Given the description of an element on the screen output the (x, y) to click on. 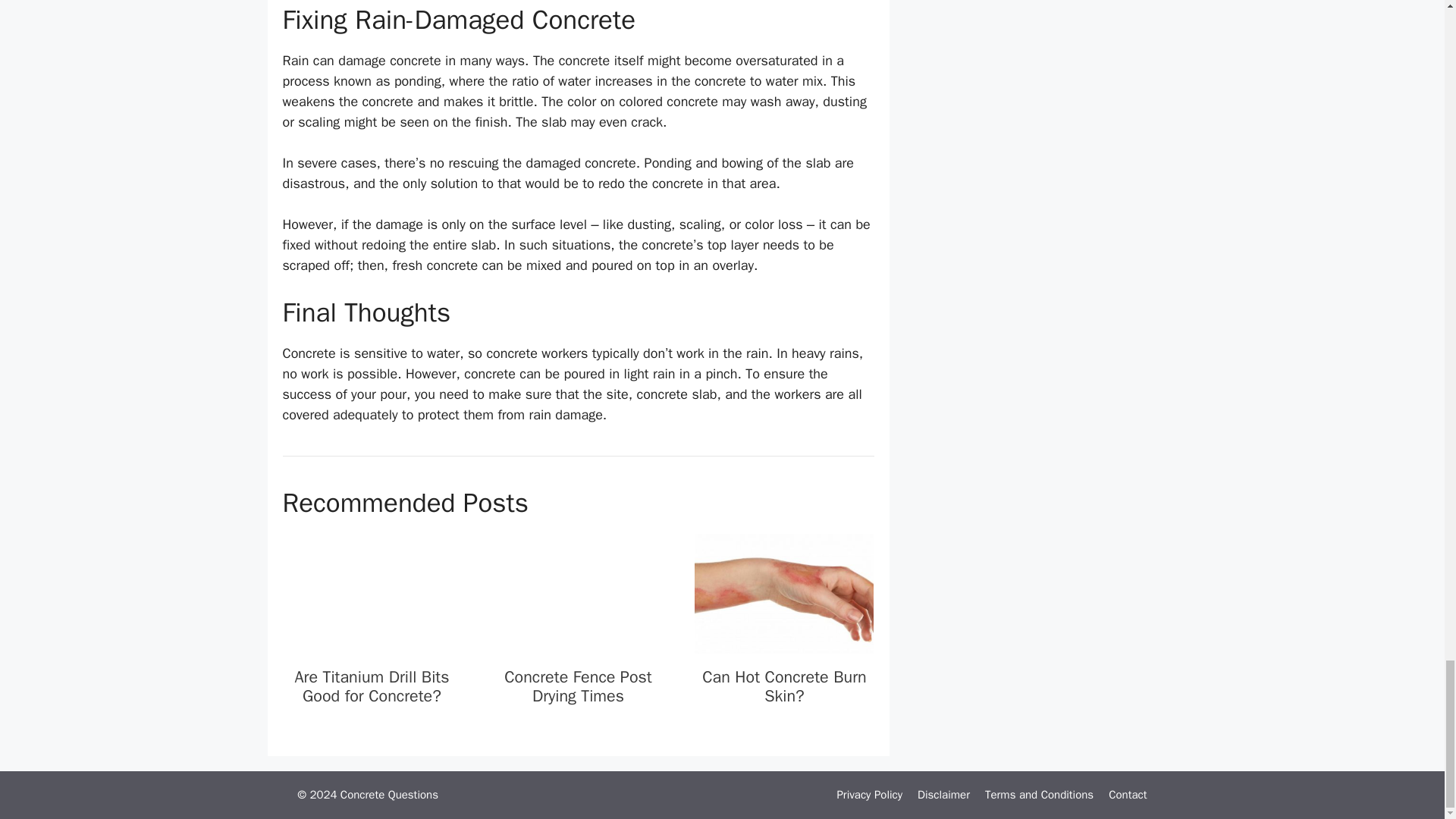
Can Hot Concrete Burn Skin? (783, 685)
Privacy Policy (868, 794)
Concrete Fence Post Drying Times (576, 641)
Disclaimer (943, 794)
Are Titanium Drill Bits Good for Concrete? (371, 685)
Are Titanium Drill Bits Good for Concrete? (371, 641)
Can Hot Concrete Burn Skin? (783, 641)
Concrete Fence Post Drying Times (577, 685)
